Given the description of an element on the screen output the (x, y) to click on. 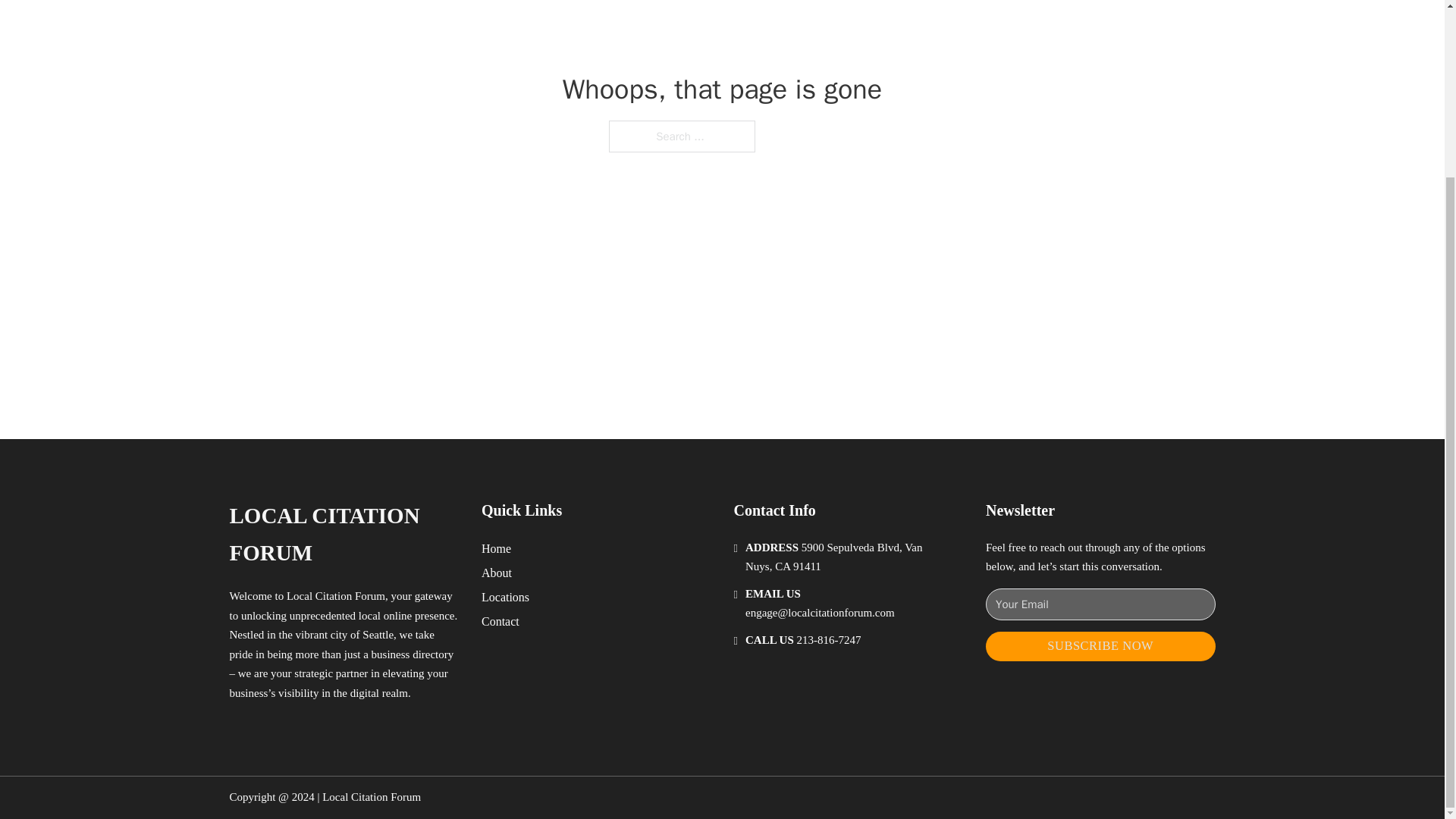
SUBSCRIBE NOW (1100, 645)
Contact (500, 620)
LOCAL CITATION FORUM (343, 534)
Home (496, 548)
About (496, 572)
Locations (505, 597)
